Given the description of an element on the screen output the (x, y) to click on. 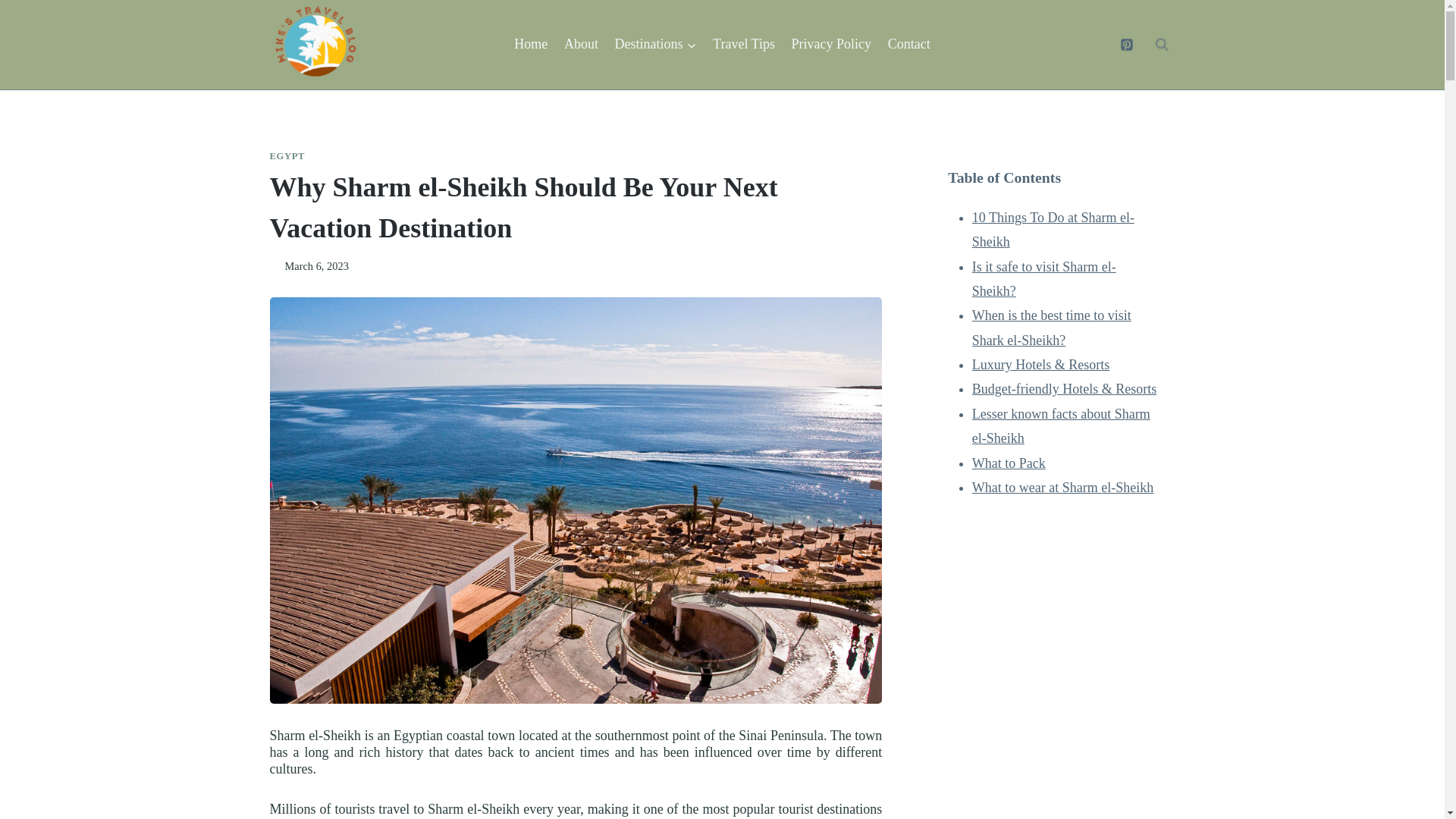
EGYPT (287, 155)
Travel Tips (743, 43)
Contact (909, 43)
About (581, 43)
Home (531, 43)
Destinations (655, 43)
Privacy Policy (831, 43)
